Given the description of an element on the screen output the (x, y) to click on. 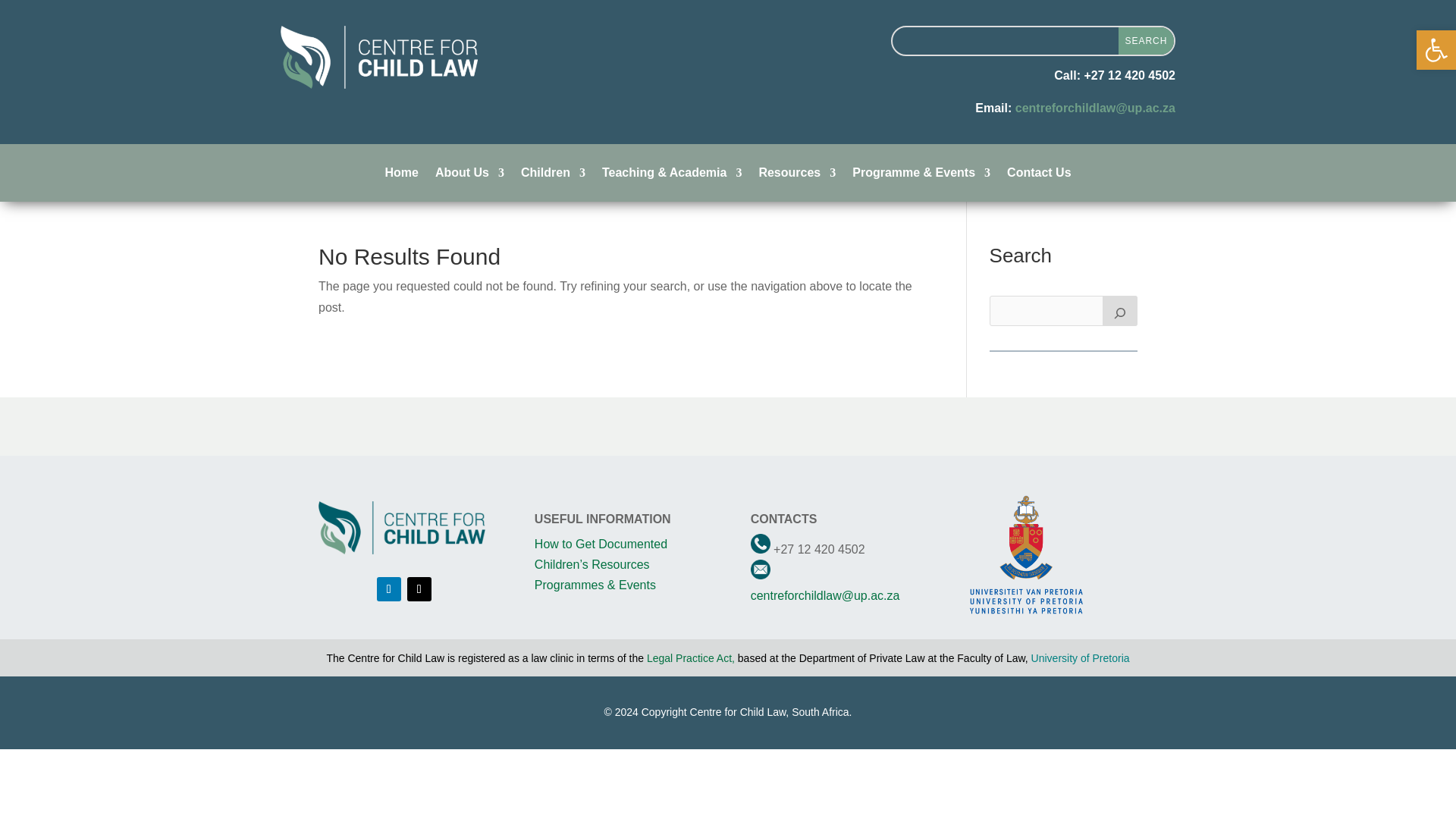
University of Pretoria (1079, 657)
Resources (796, 175)
Home (400, 175)
Search (1145, 40)
About Us (469, 175)
Follow on X (418, 589)
Accessibility Tools (1435, 49)
Centre For Child Law (401, 527)
University of Pretoria Coat of Arms (1026, 554)
Search (1145, 40)
Search (1145, 40)
Children (553, 175)
Centre for Child Law (379, 56)
Follow on LinkedIn (389, 589)
